Given the description of an element on the screen output the (x, y) to click on. 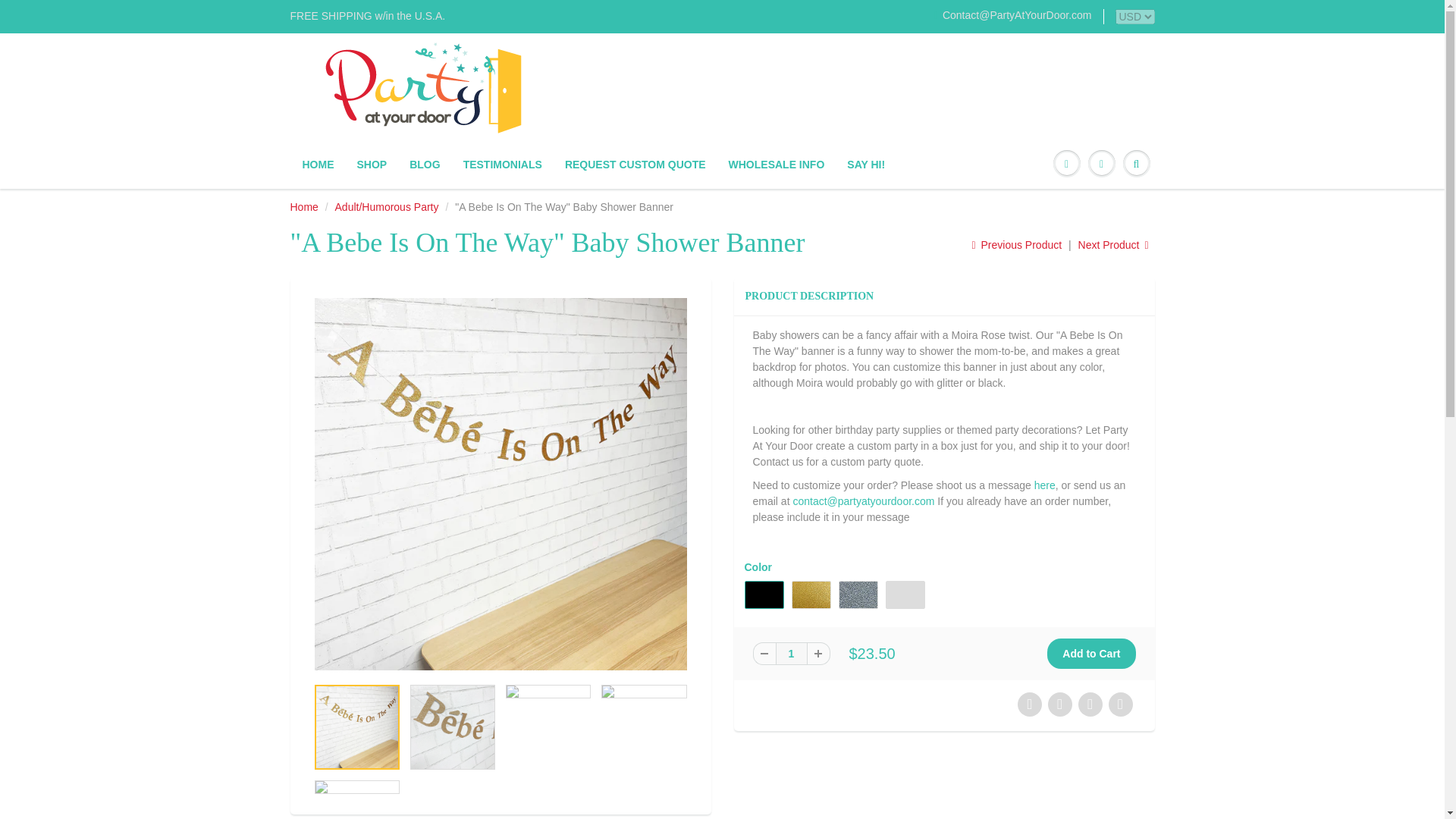
SHOP (372, 164)
REQUEST CUSTOM QUOTE (635, 164)
HOME (318, 164)
Email (863, 500)
BLOG (424, 164)
Home (303, 206)
1 (790, 653)
Previous Product (1015, 244)
Add to Cart (1090, 653)
Home (303, 206)
